Given the description of an element on the screen output the (x, y) to click on. 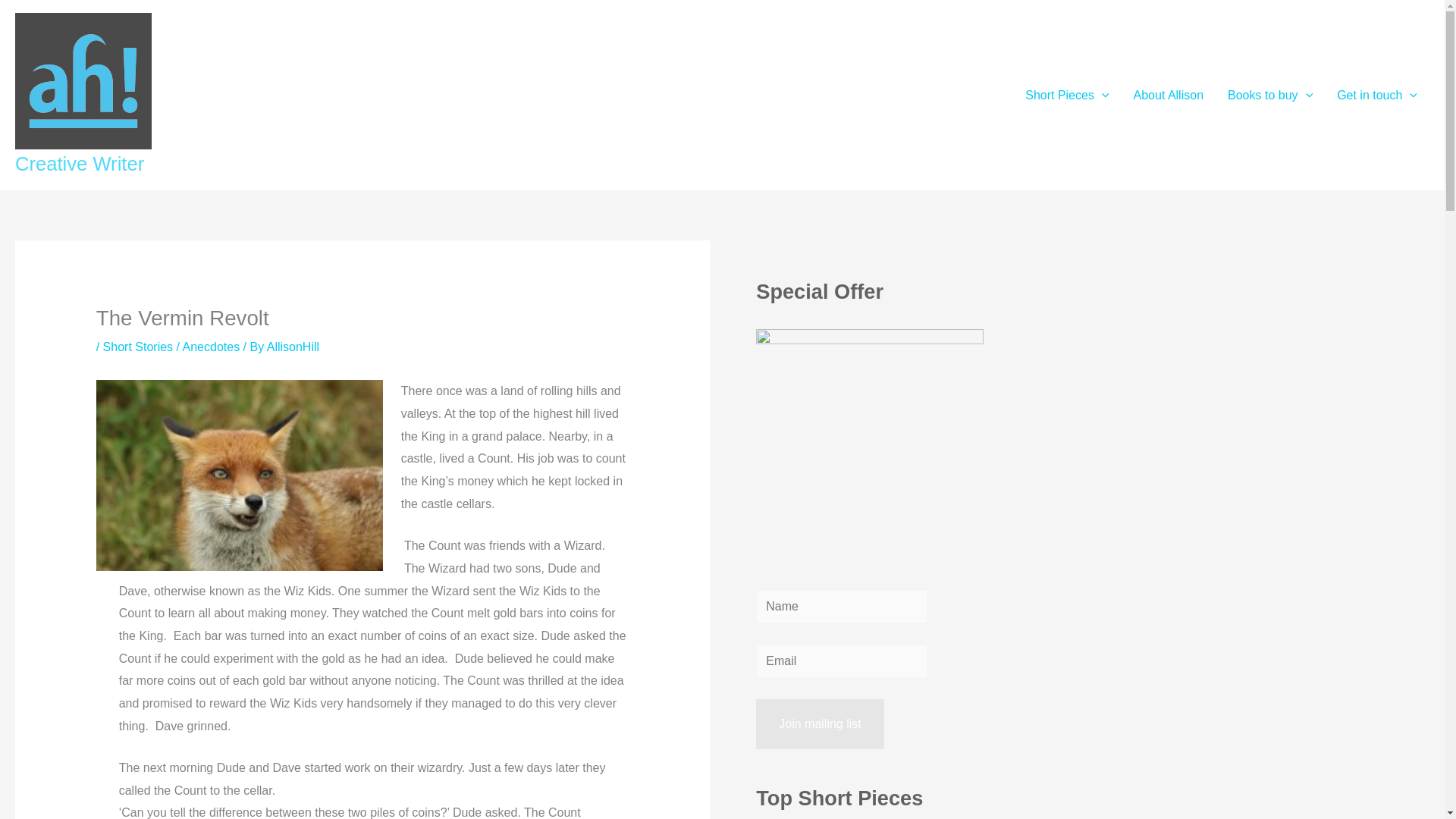
View all posts by AllisonHill (292, 346)
Get in touch (1376, 95)
Books to buy (1269, 95)
About Allison (1168, 95)
Short Pieces (1067, 95)
Join mailing list (819, 724)
